Given the description of an element on the screen output the (x, y) to click on. 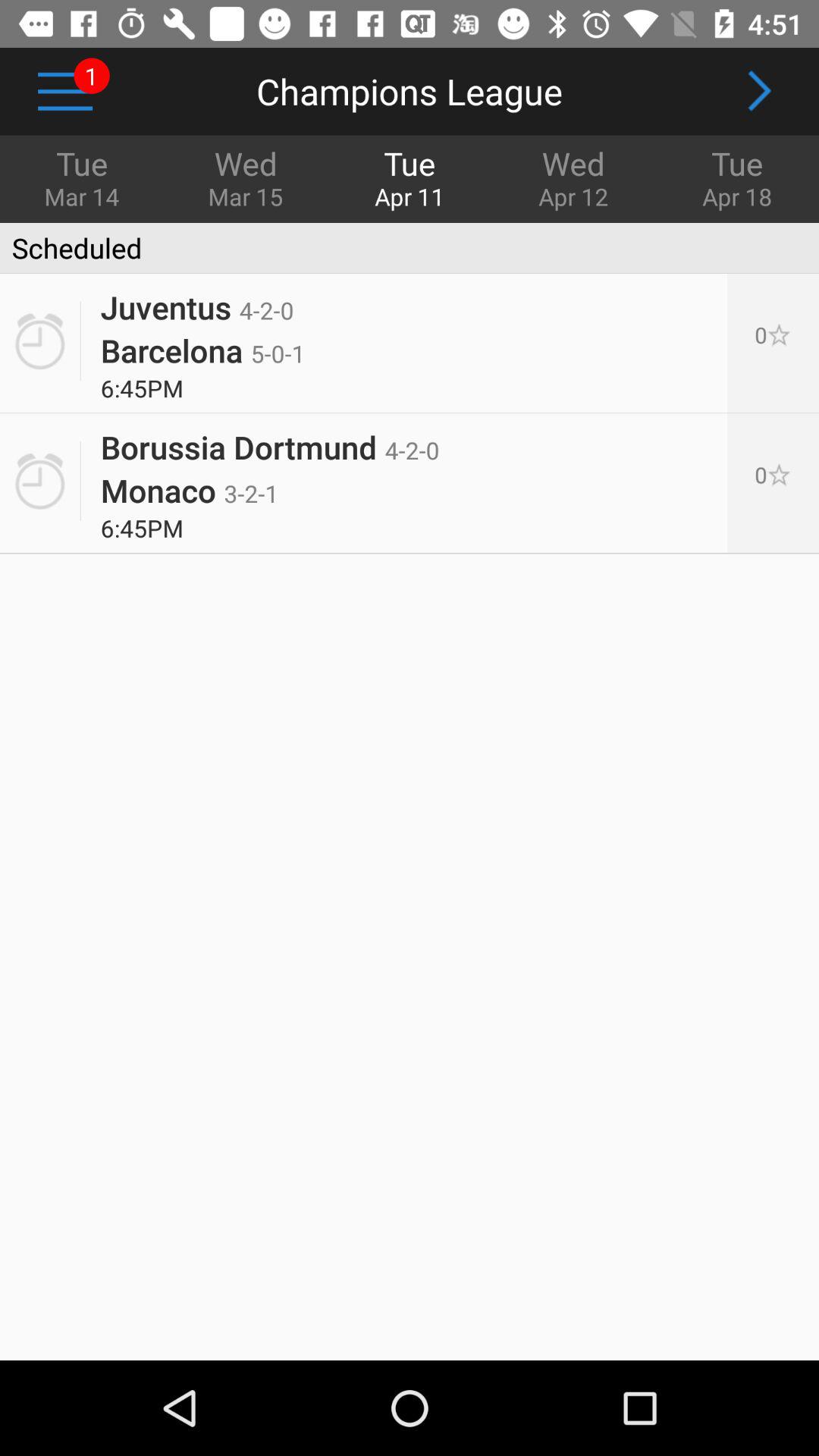
tap the icon next to the 0[p] (189, 489)
